Given the description of an element on the screen output the (x, y) to click on. 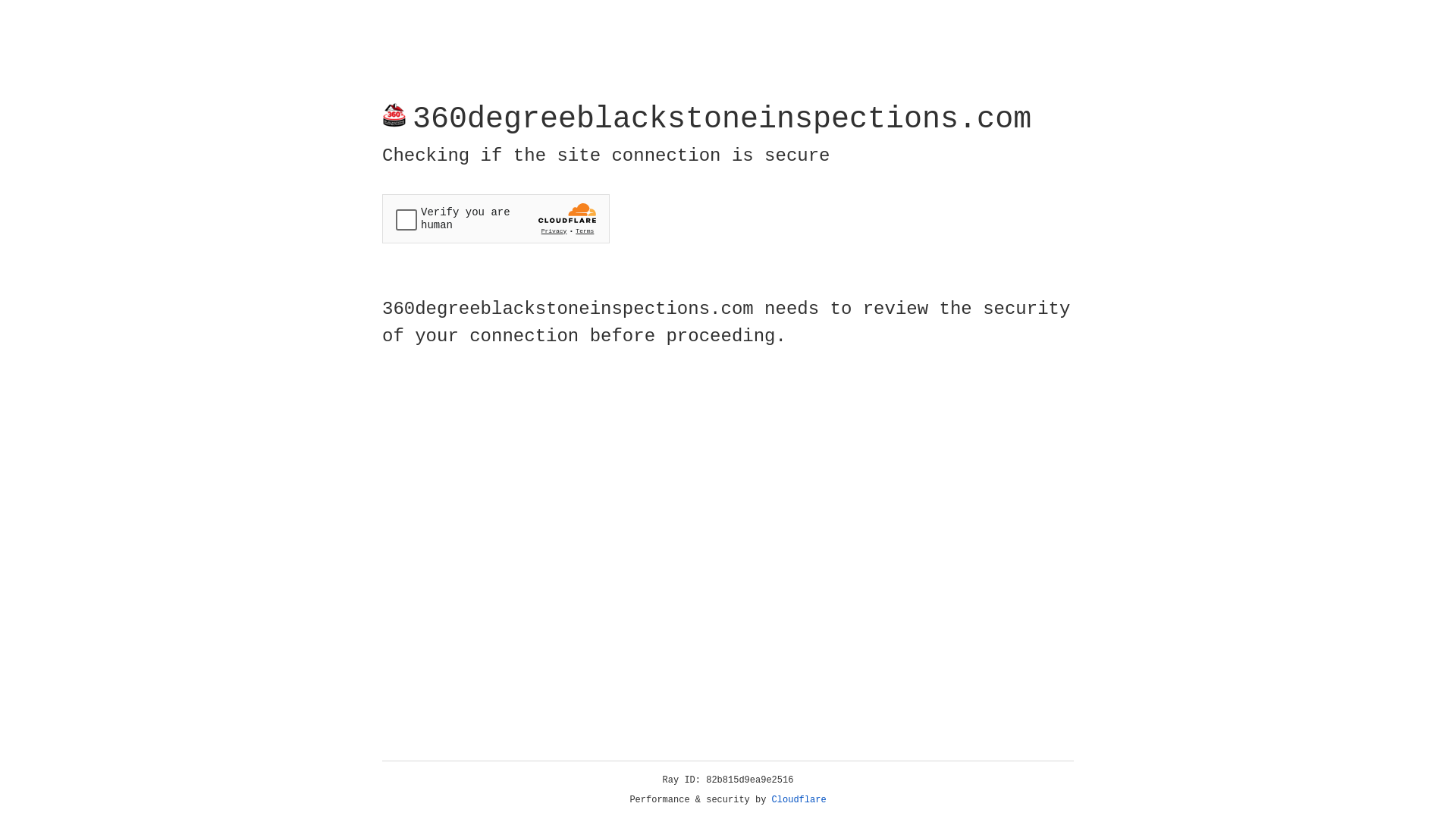
Widget containing a Cloudflare security challenge Element type: hover (495, 218)
Cloudflare Element type: text (798, 799)
